Given the description of an element on the screen output the (x, y) to click on. 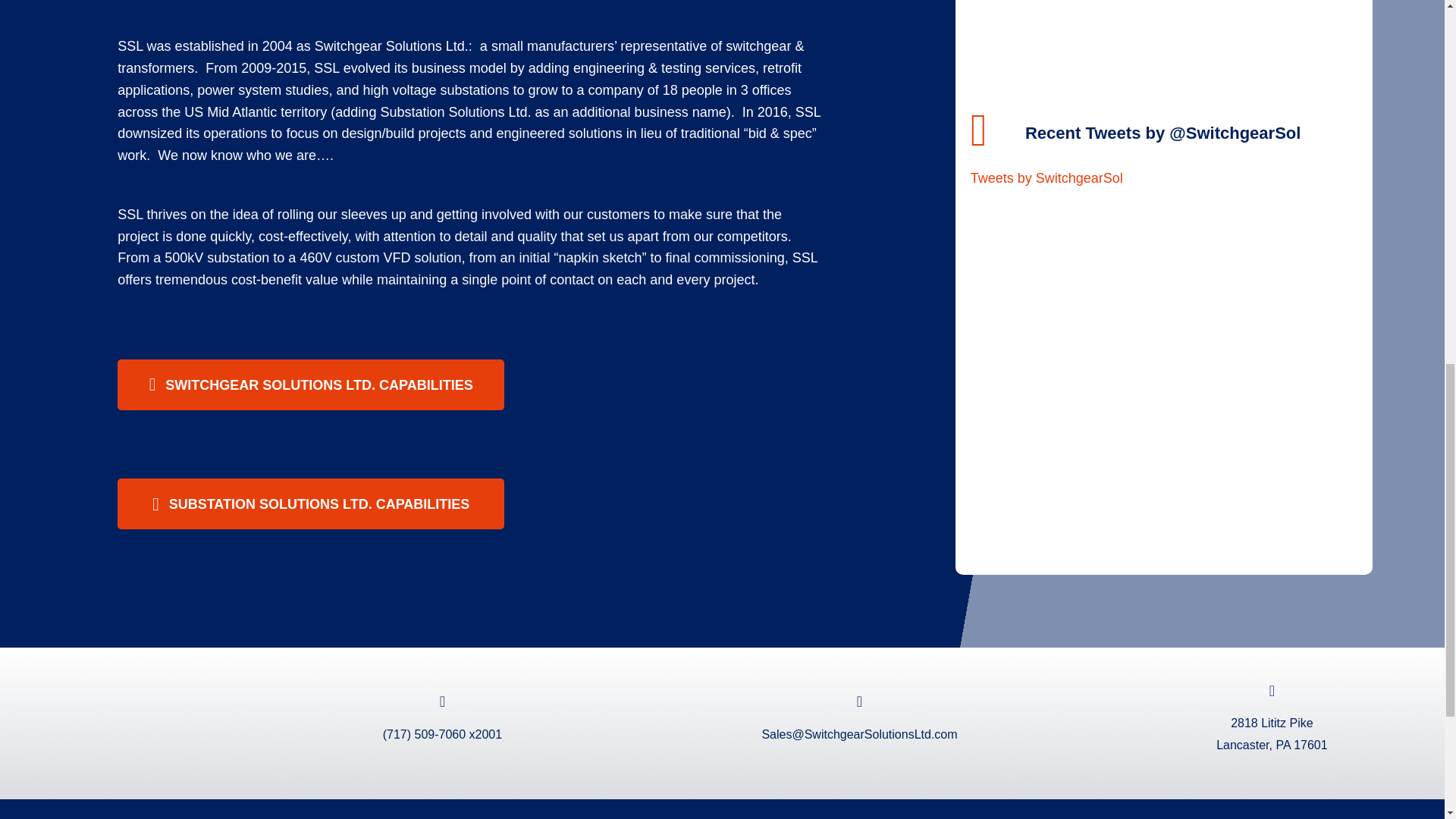
SUBSTATION SOLUTIONS LTD. CAPABILITIES (310, 503)
SWITCHGEAR SOLUTIONS LTD. CAPABILITIES (310, 384)
Tweets by SwitchgearSol (1046, 177)
